Given the description of an element on the screen output the (x, y) to click on. 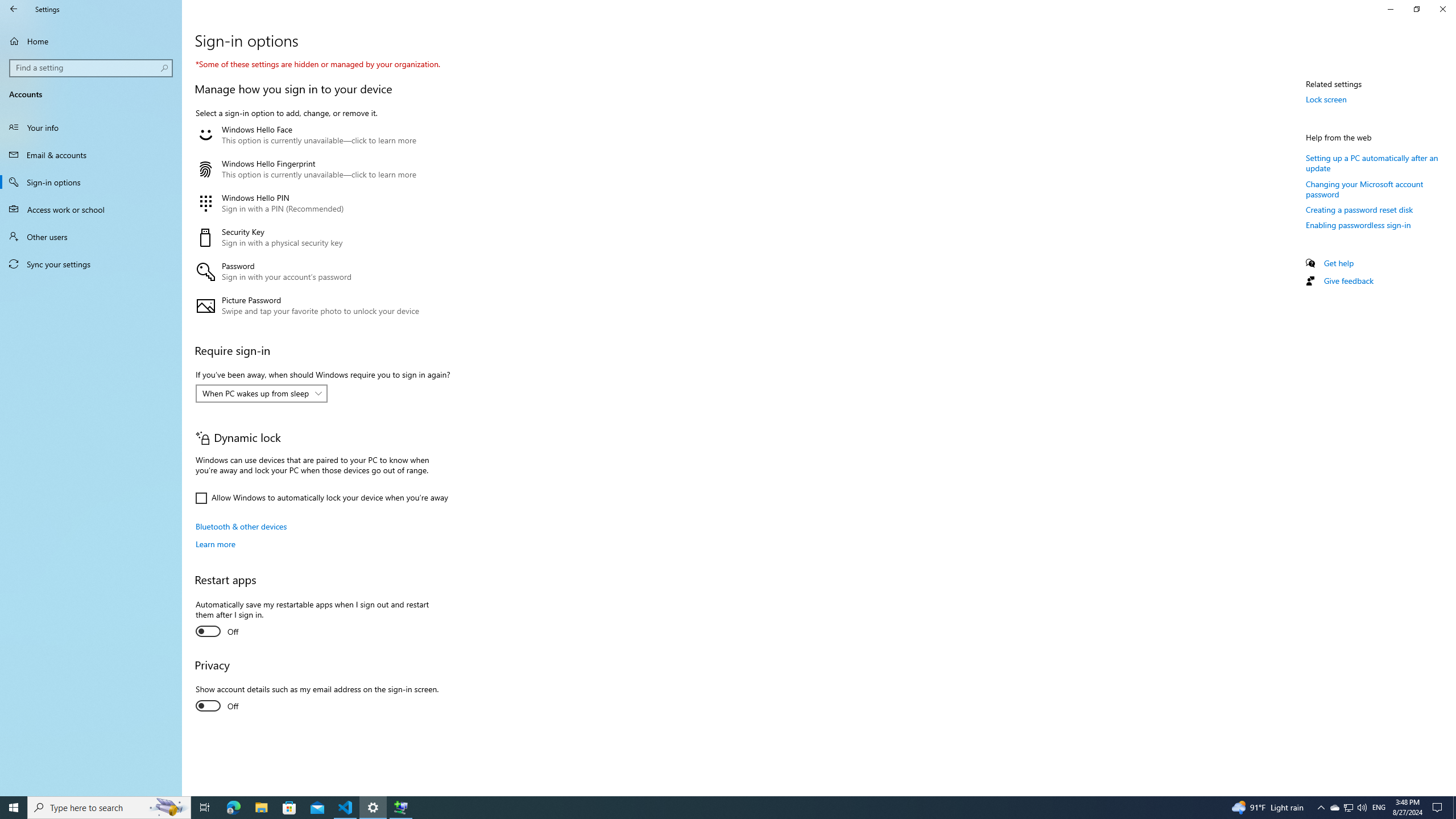
Running applications (706, 807)
Other users (91, 236)
Lock screen (1326, 99)
Changing your Microsoft account password (1364, 188)
Your info (91, 126)
